Given the description of an element on the screen output the (x, y) to click on. 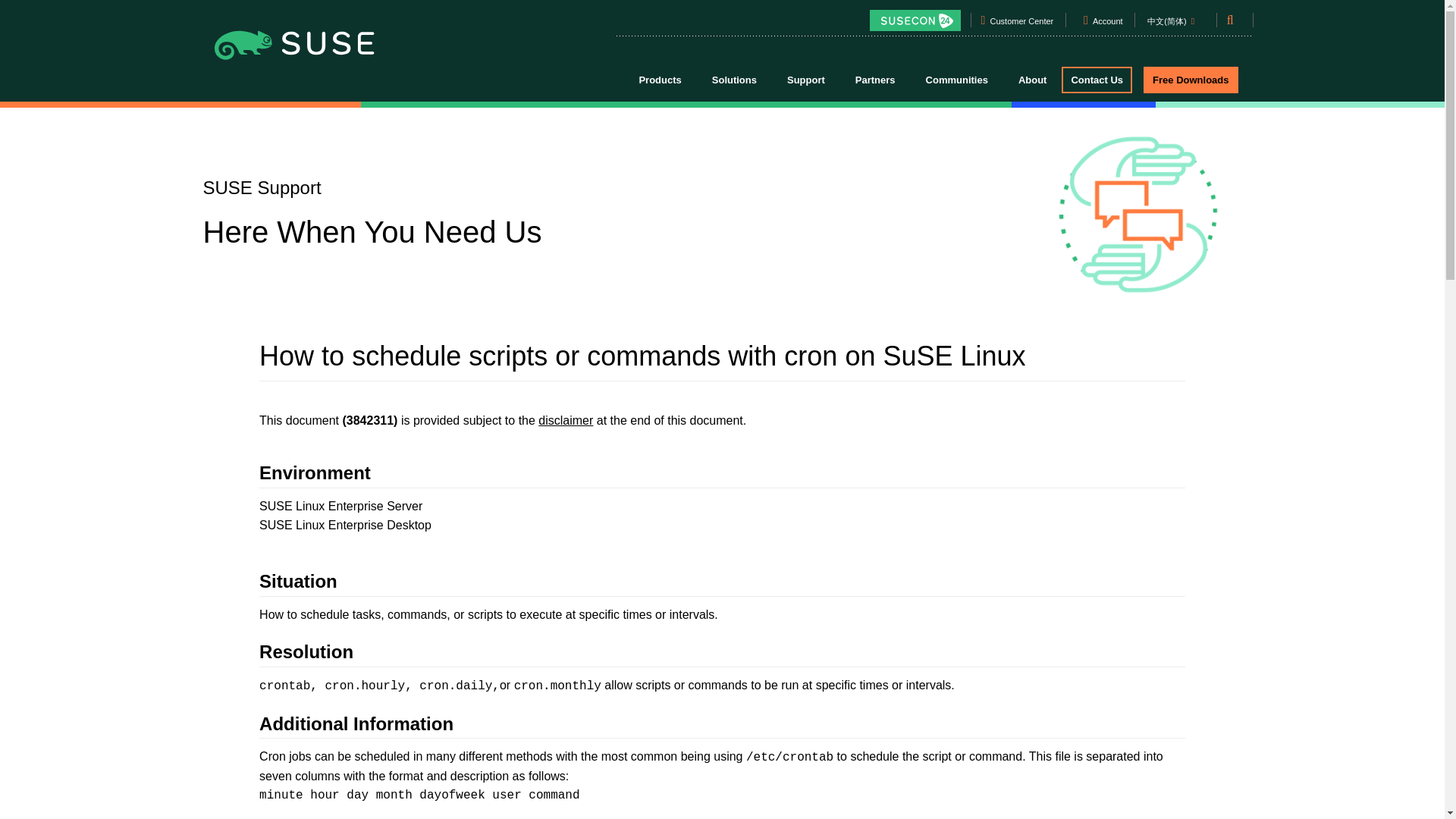
Customer Center (1022, 23)
Account (1107, 23)
Products (659, 79)
